Given the description of an element on the screen output the (x, y) to click on. 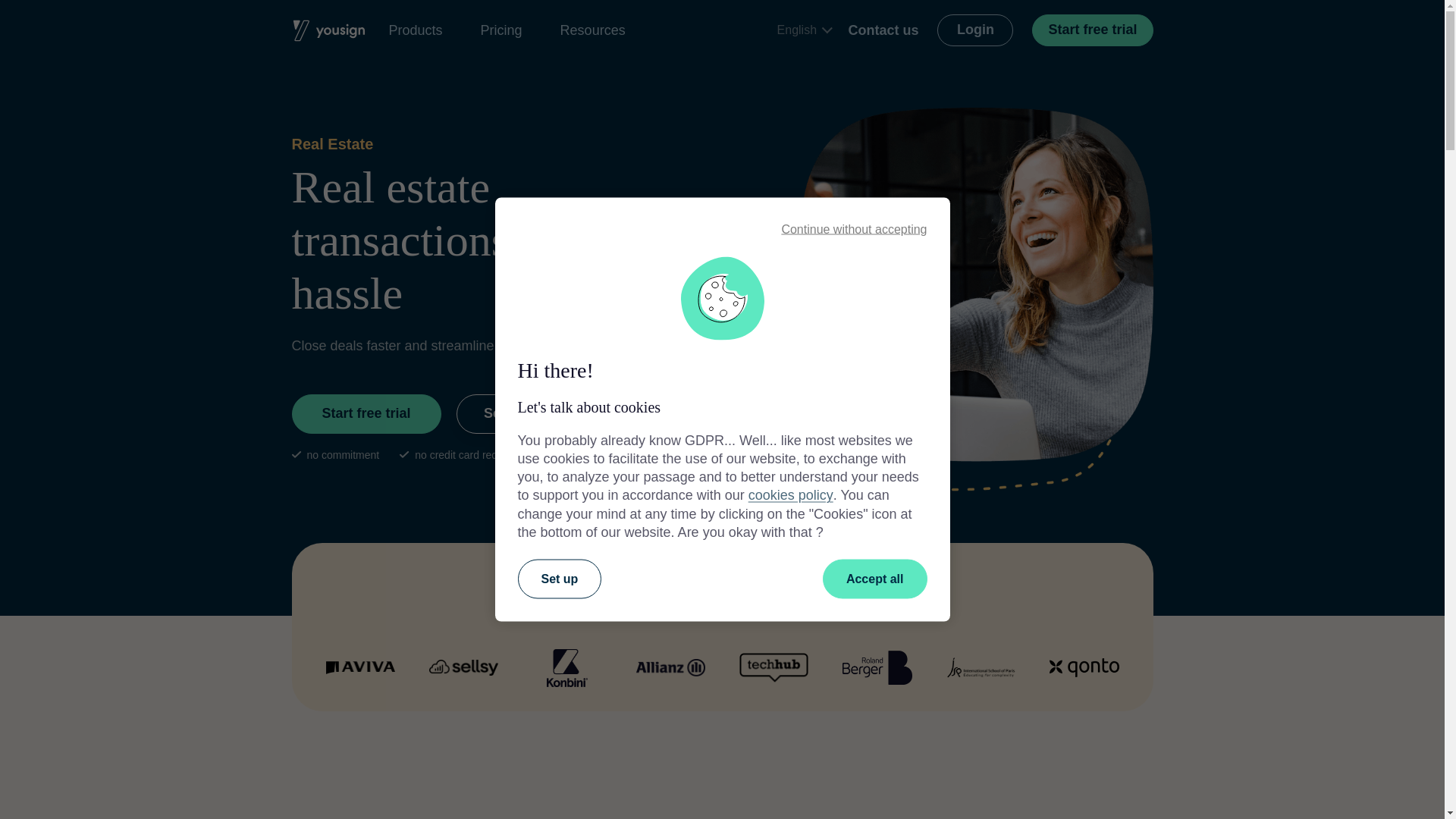
English (803, 30)
Login (975, 29)
Start free trial (1092, 29)
Start free trial (1092, 29)
Contact us (882, 29)
Start free trial (366, 413)
